Given the description of an element on the screen output the (x, y) to click on. 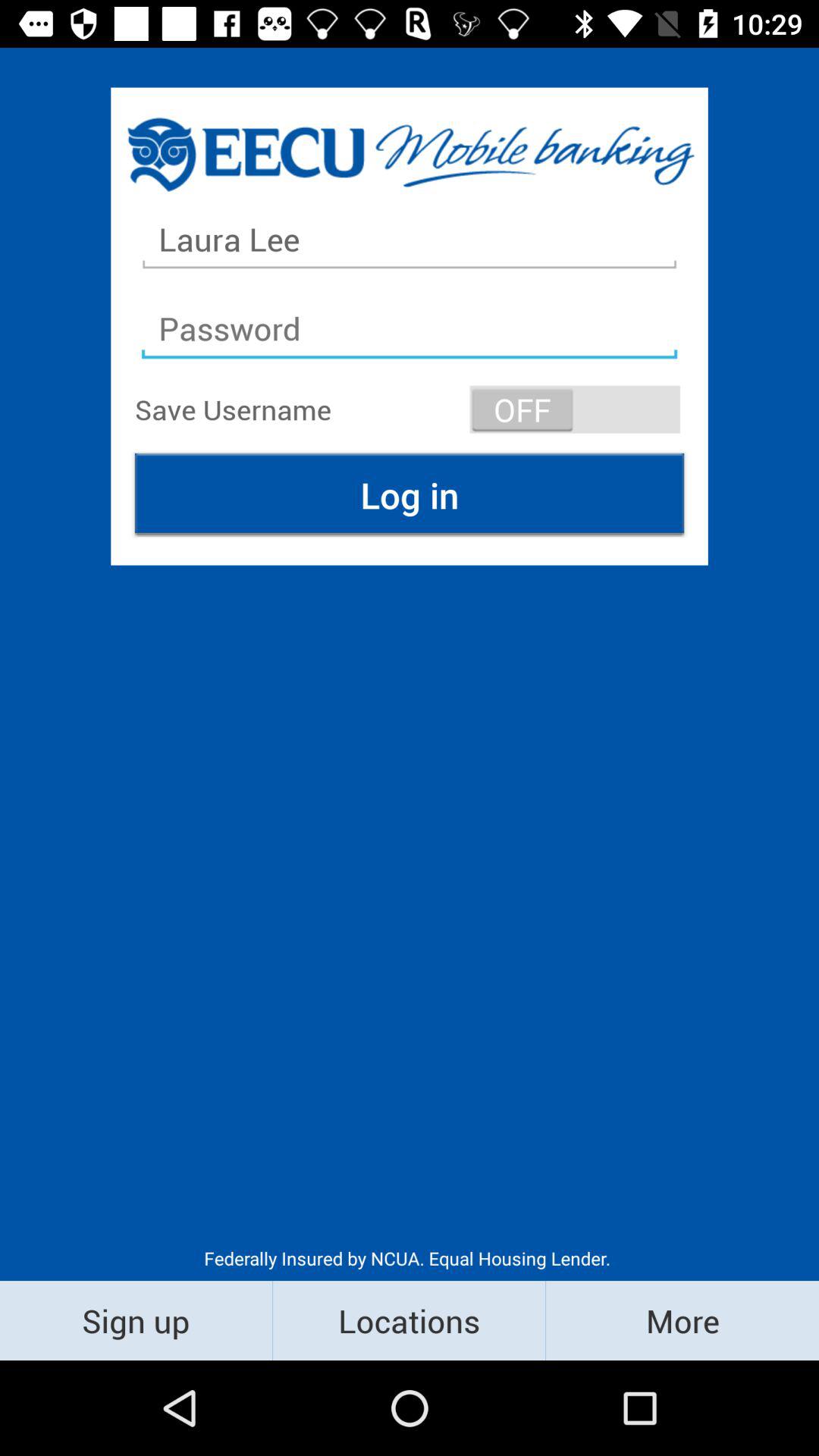
turn off item below the federally insured by item (136, 1320)
